Given the description of an element on the screen output the (x, y) to click on. 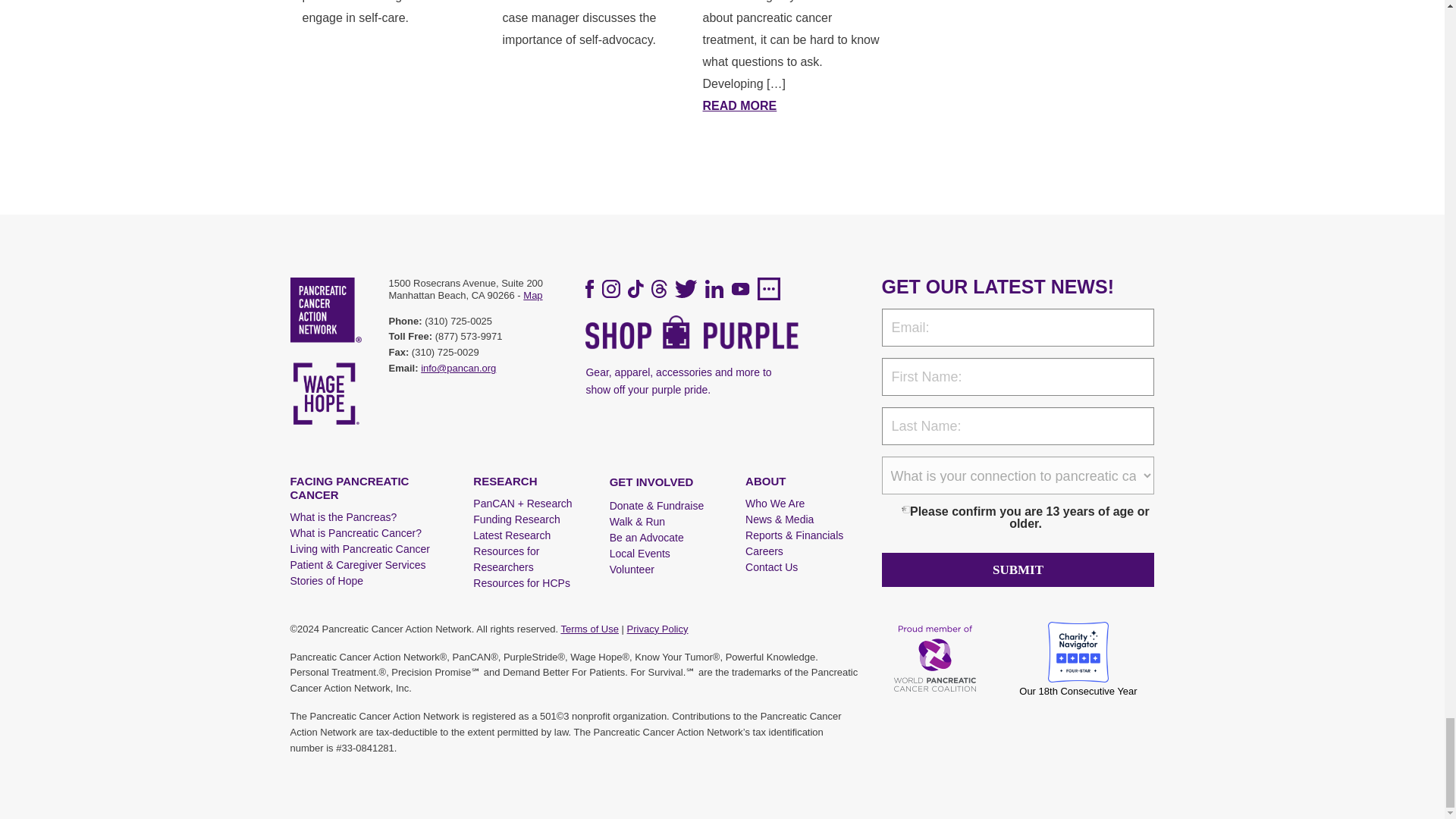
Follow us on LinkedIn (713, 289)
wpcc (936, 658)
Follow us on Threads (658, 289)
Charity Navigator (1077, 658)
Follow us on Instagram (611, 289)
Follow us on YouTube (740, 288)
Follow us on TikTok (635, 289)
Follow us on Facebook (589, 289)
View More Social Networks (768, 288)
Follow us on Twitter (686, 289)
Yes (906, 509)
